Given the description of an element on the screen output the (x, y) to click on. 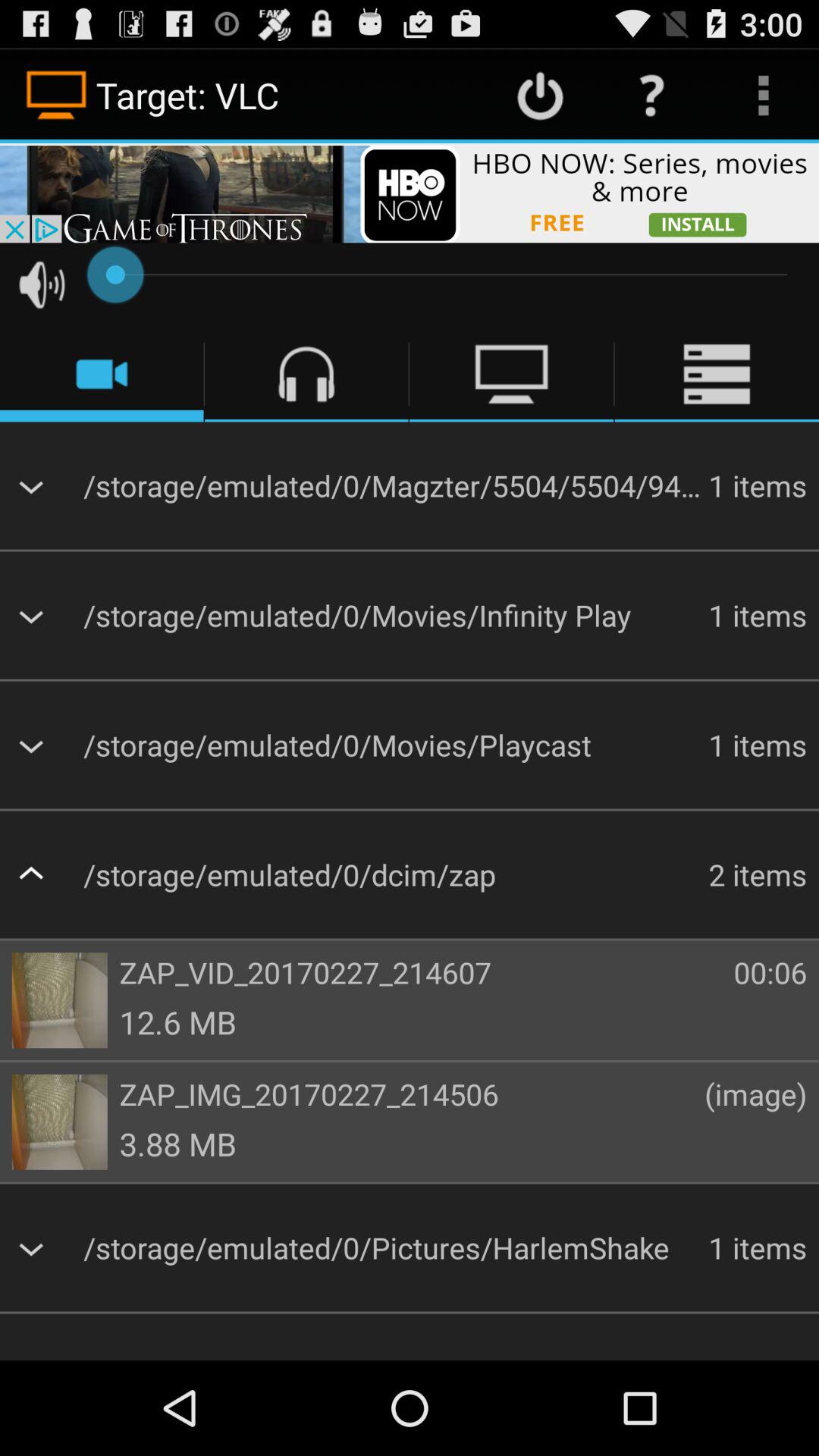
go to advertisement (409, 192)
